Given the description of an element on the screen output the (x, y) to click on. 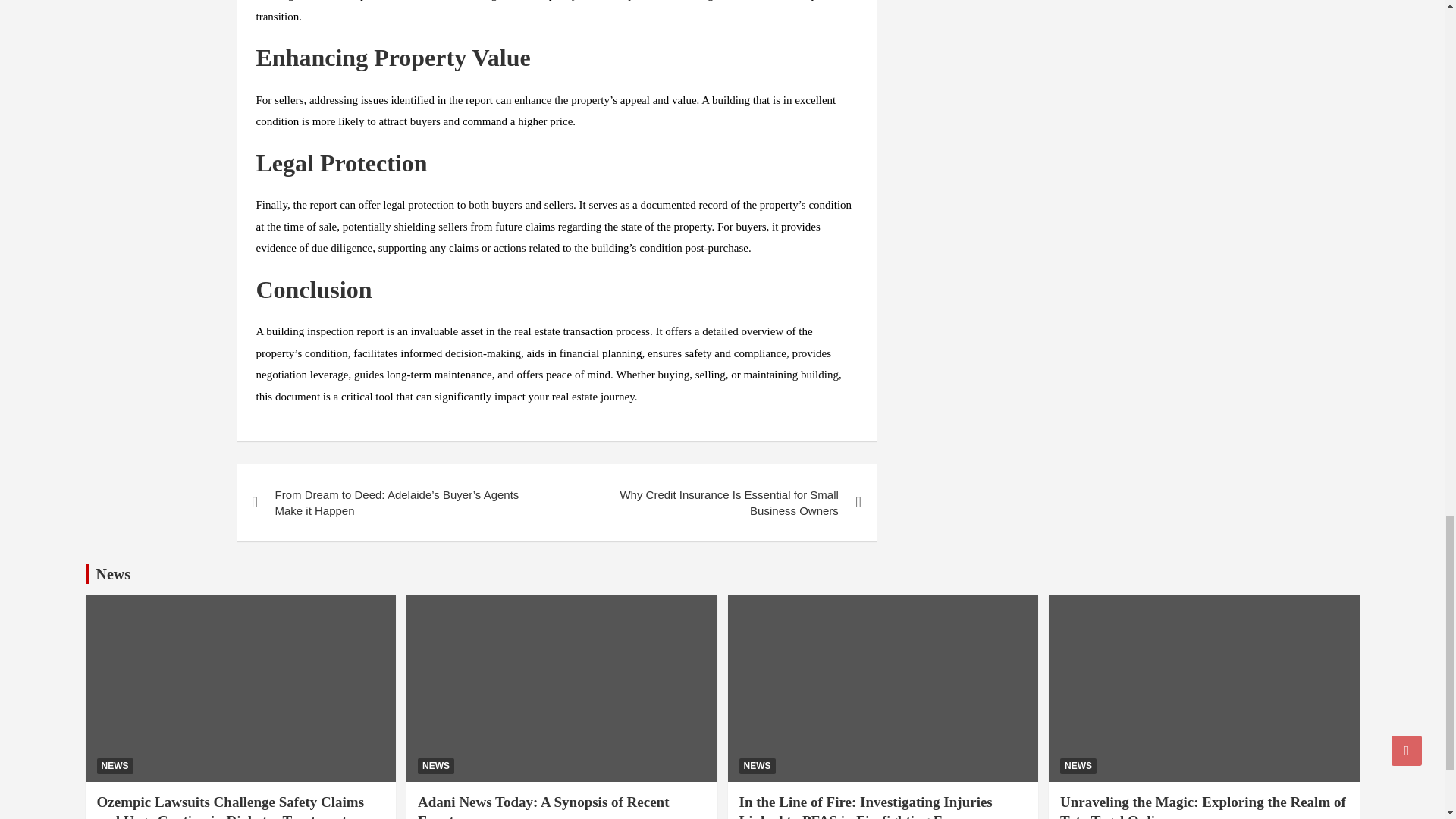
Adani News Today: A Synopsis of Recent Events (543, 806)
News (113, 573)
Why Credit Insurance Is Essential for Small Business Owners (716, 502)
NEWS (756, 765)
NEWS (435, 765)
NEWS (115, 765)
